Given the description of an element on the screen output the (x, y) to click on. 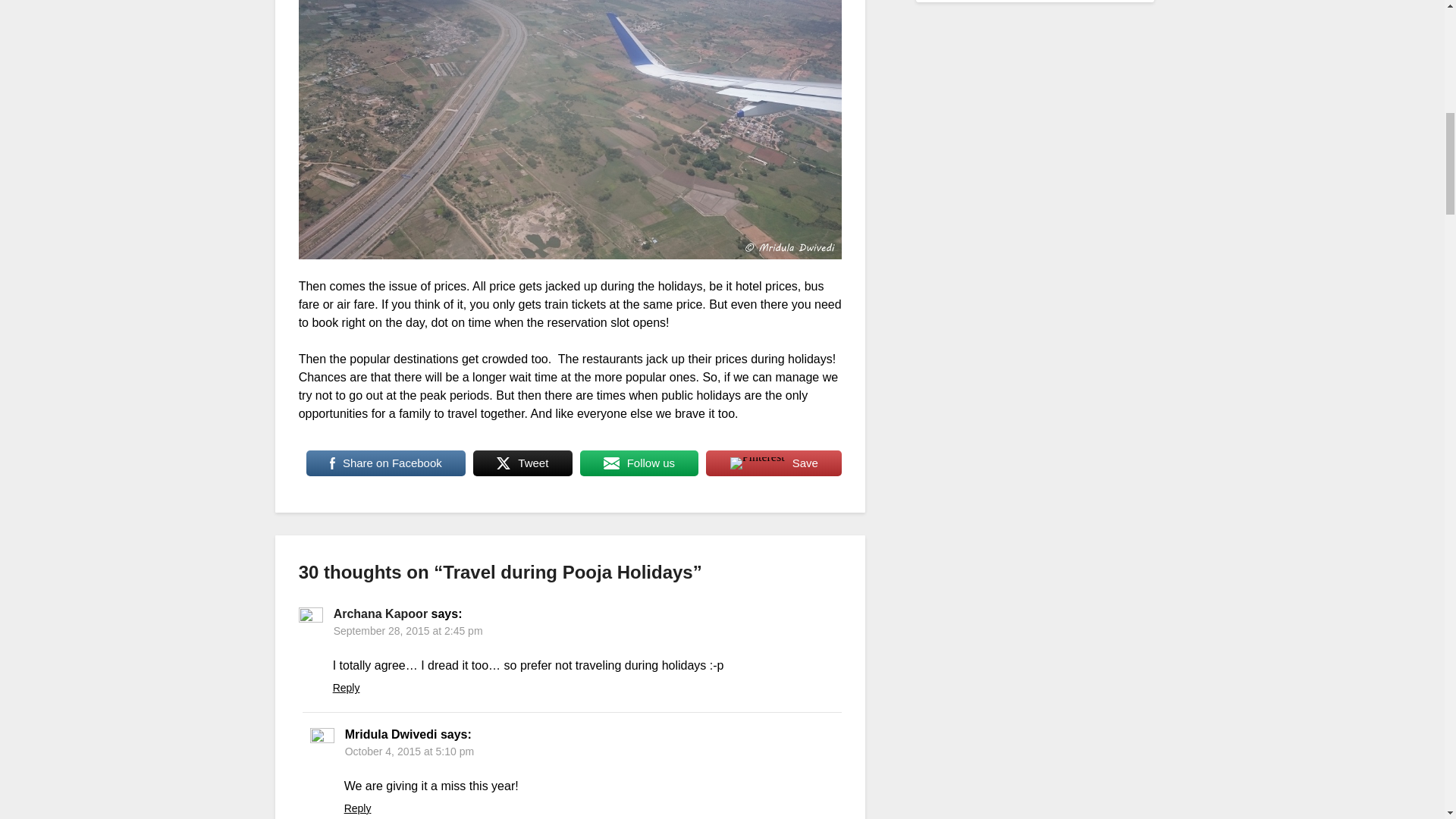
October 4, 2015 at 5:10 pm (409, 751)
Save (773, 462)
Reply (357, 808)
Reply (346, 687)
Tweet (522, 462)
Follow us (638, 462)
Share on Facebook (385, 462)
September 28, 2015 at 2:45 pm (408, 630)
Archana Kapoor (380, 613)
